Given the description of an element on the screen output the (x, y) to click on. 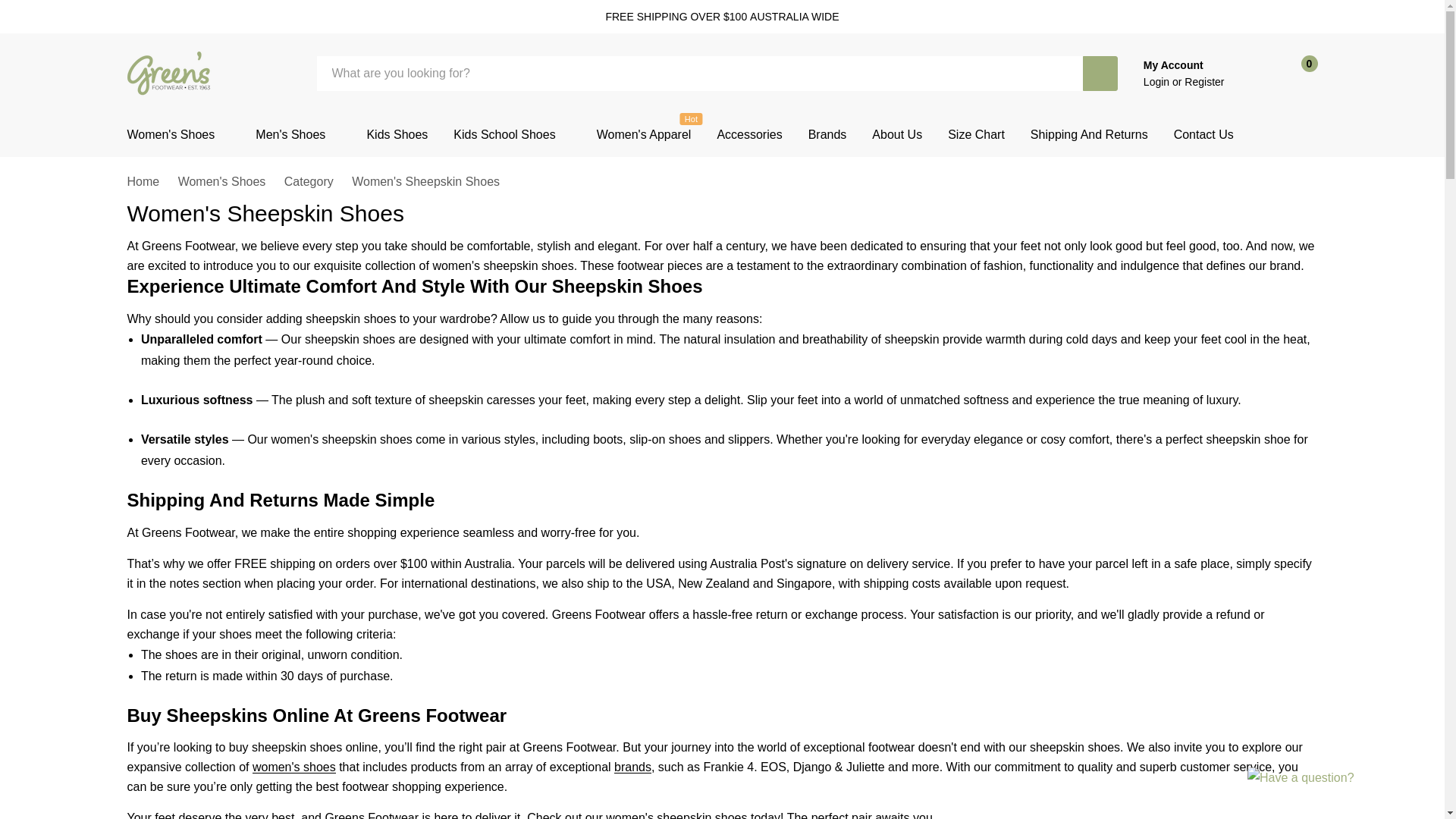
0 (1295, 72)
Login (1157, 81)
Greens Footwear Pty Ltd (170, 72)
Women'S Shoes (171, 134)
Register (1204, 81)
